Given the description of an element on the screen output the (x, y) to click on. 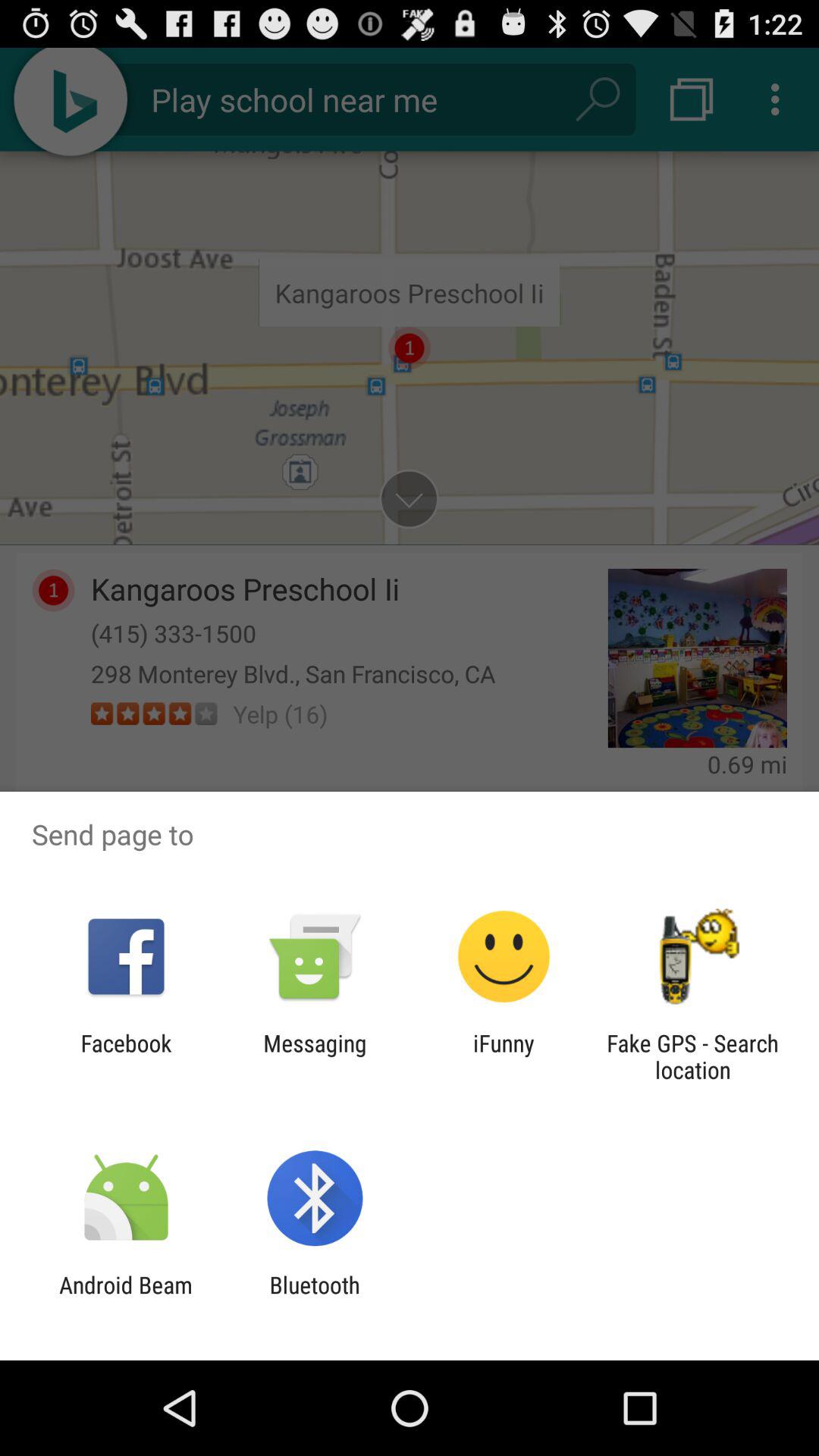
press item next to android beam (314, 1298)
